Given the description of an element on the screen output the (x, y) to click on. 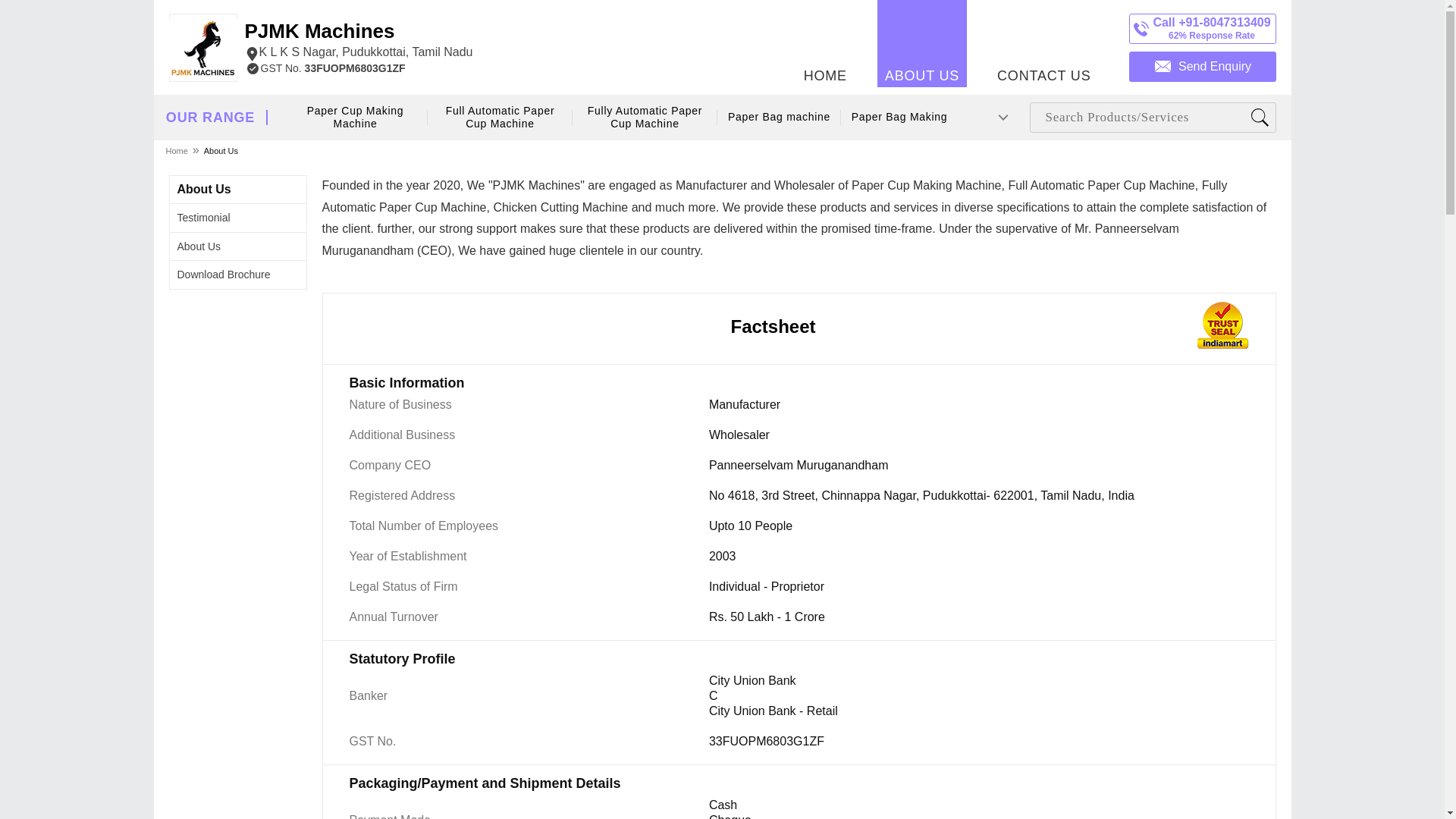
Paper Bag Making (357, 41)
CONTACT US (899, 117)
Paper Cup Making Machine (1043, 43)
Full Automatic Paper Cup Machine (355, 117)
Testimonial (500, 117)
Fully Automatic Paper Cup Machine (203, 217)
About Us (645, 117)
Home (204, 188)
Paper Bag machine (176, 150)
